Given the description of an element on the screen output the (x, y) to click on. 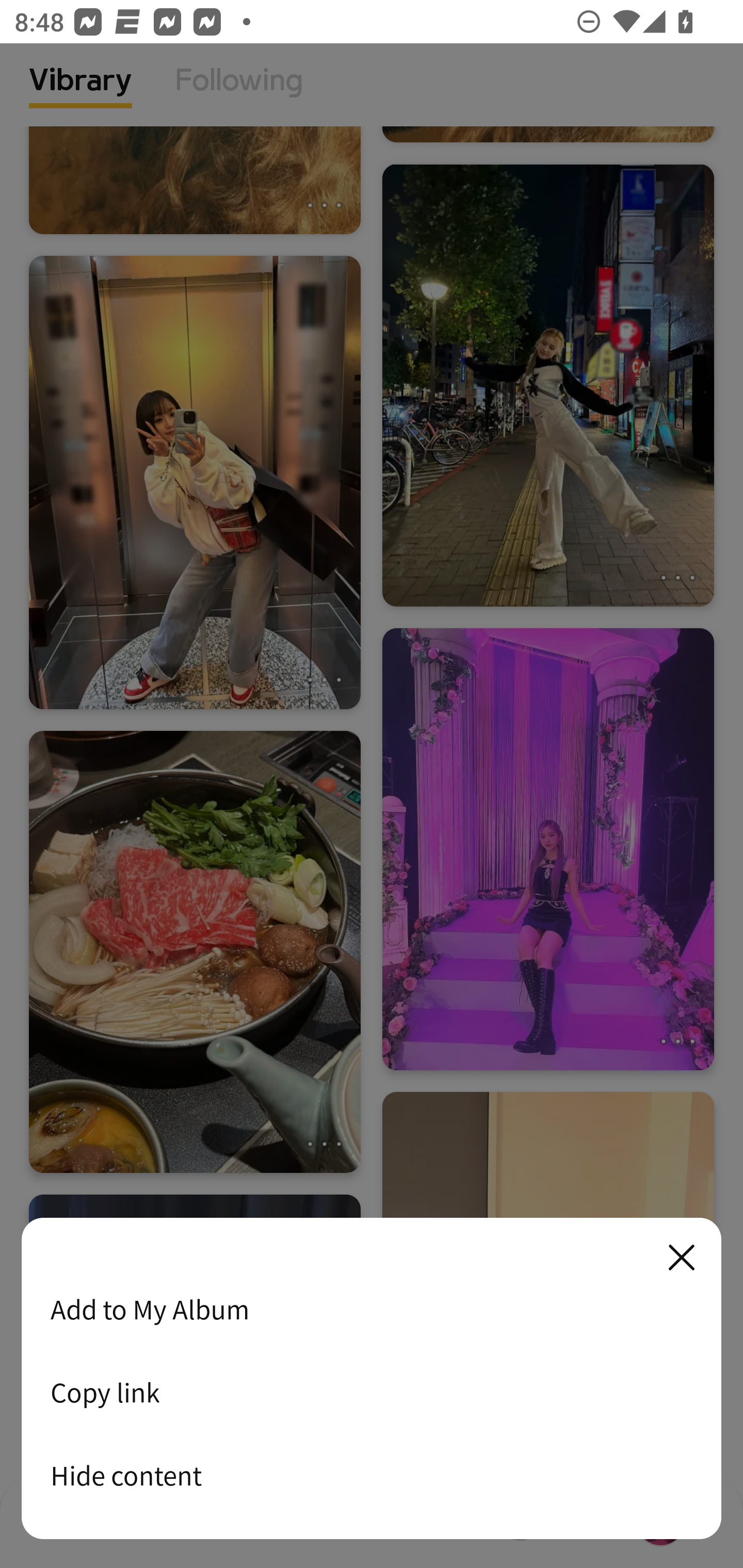
Add to My Album Copy link Hide content (371, 1378)
Add to My Album (371, 1308)
Copy link (371, 1391)
Hide content (371, 1474)
